Given the description of an element on the screen output the (x, y) to click on. 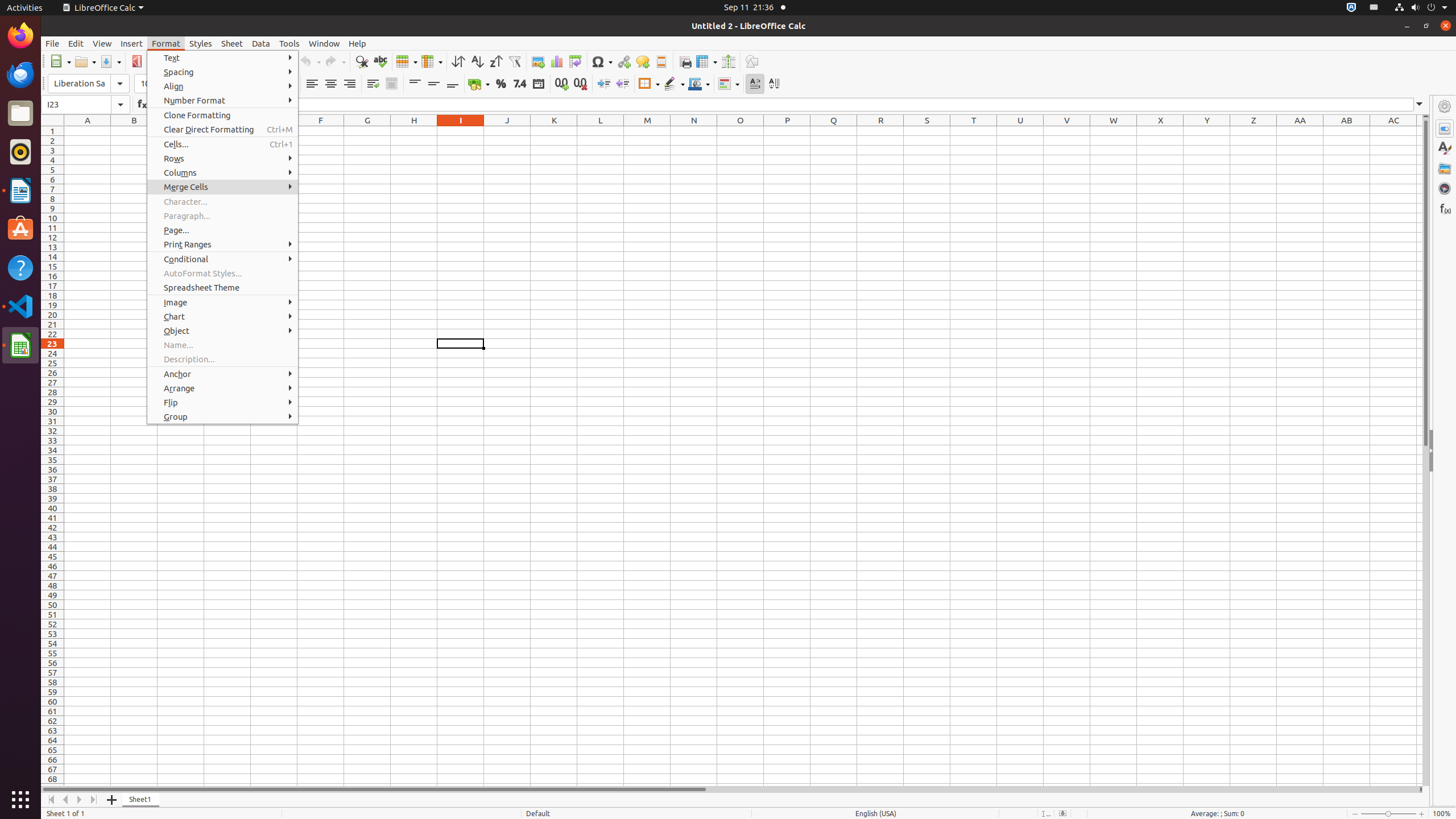
Properties Element type: panel (1444, 450)
M1 Element type: table-cell (646, 130)
Name Box Element type: panel (85, 104)
Functions Element type: radio-button (1444, 208)
L1 Element type: table-cell (600, 130)
